Given the description of an element on the screen output the (x, y) to click on. 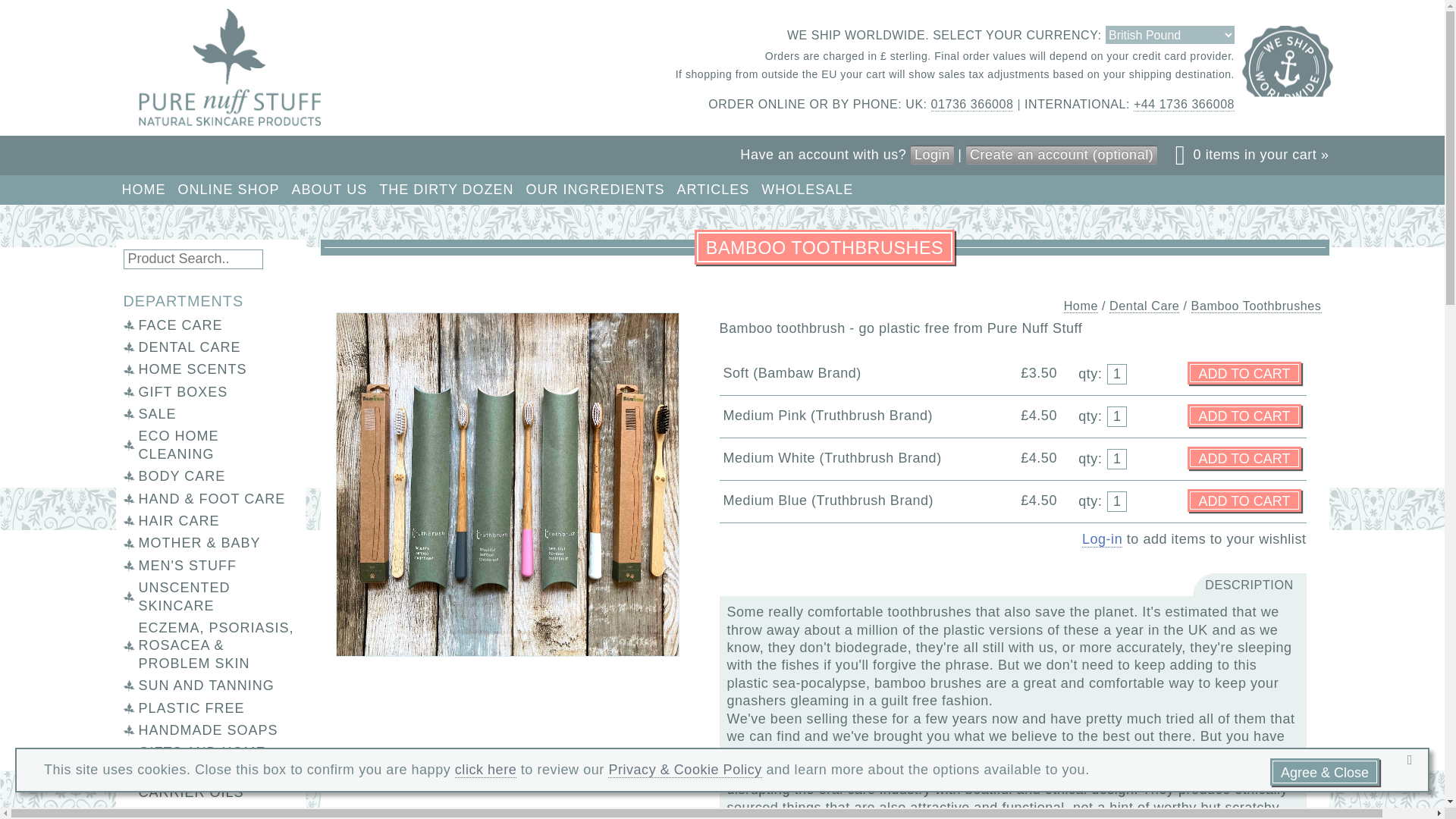
Add to Cart (1243, 500)
Add to Cart (1243, 457)
Add to Cart (1243, 415)
HOME (142, 189)
1 (1116, 373)
1 (1116, 458)
01736 366008 (972, 104)
go (282, 258)
1 (1116, 416)
go to the log-in page (1101, 539)
